Given the description of an element on the screen output the (x, y) to click on. 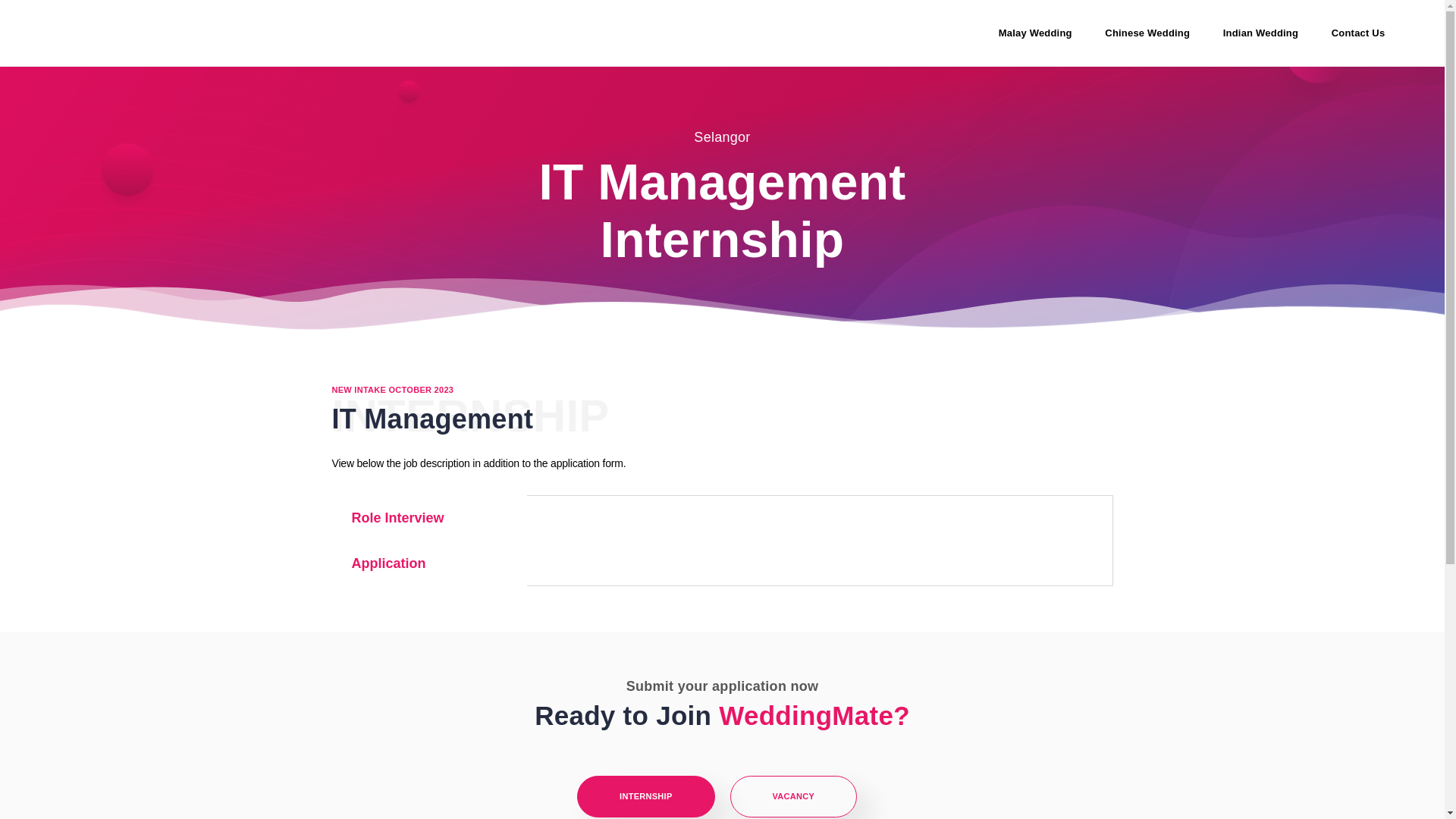
Malay Wedding (1035, 33)
Contact Us (1358, 33)
VACANCY (793, 796)
Indian Wedding (1260, 33)
INTERNSHIP (645, 796)
Chinese Wedding (1147, 33)
